Given the description of an element on the screen output the (x, y) to click on. 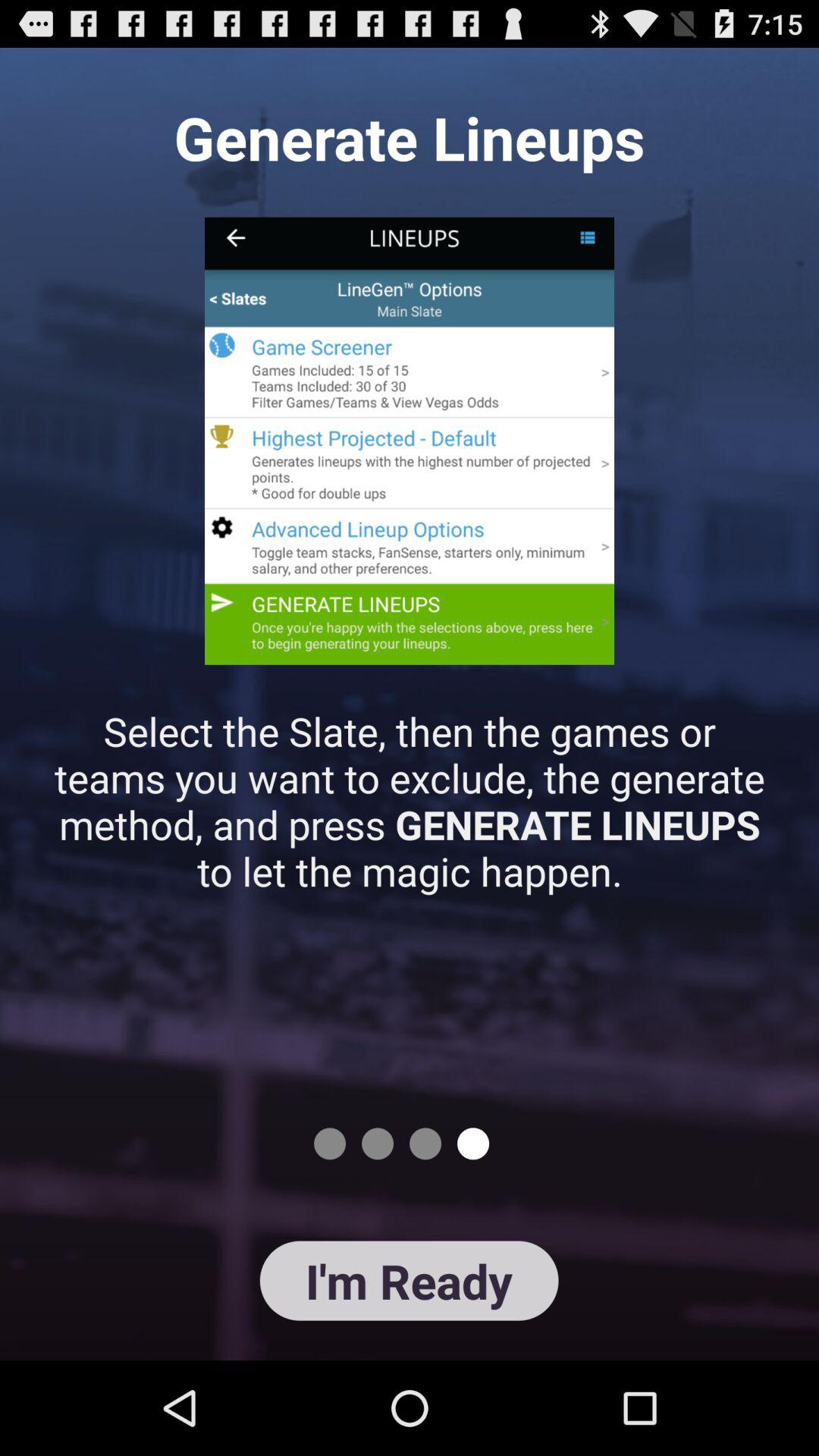
turn on the i'm ready icon (408, 1280)
